Given the description of an element on the screen output the (x, y) to click on. 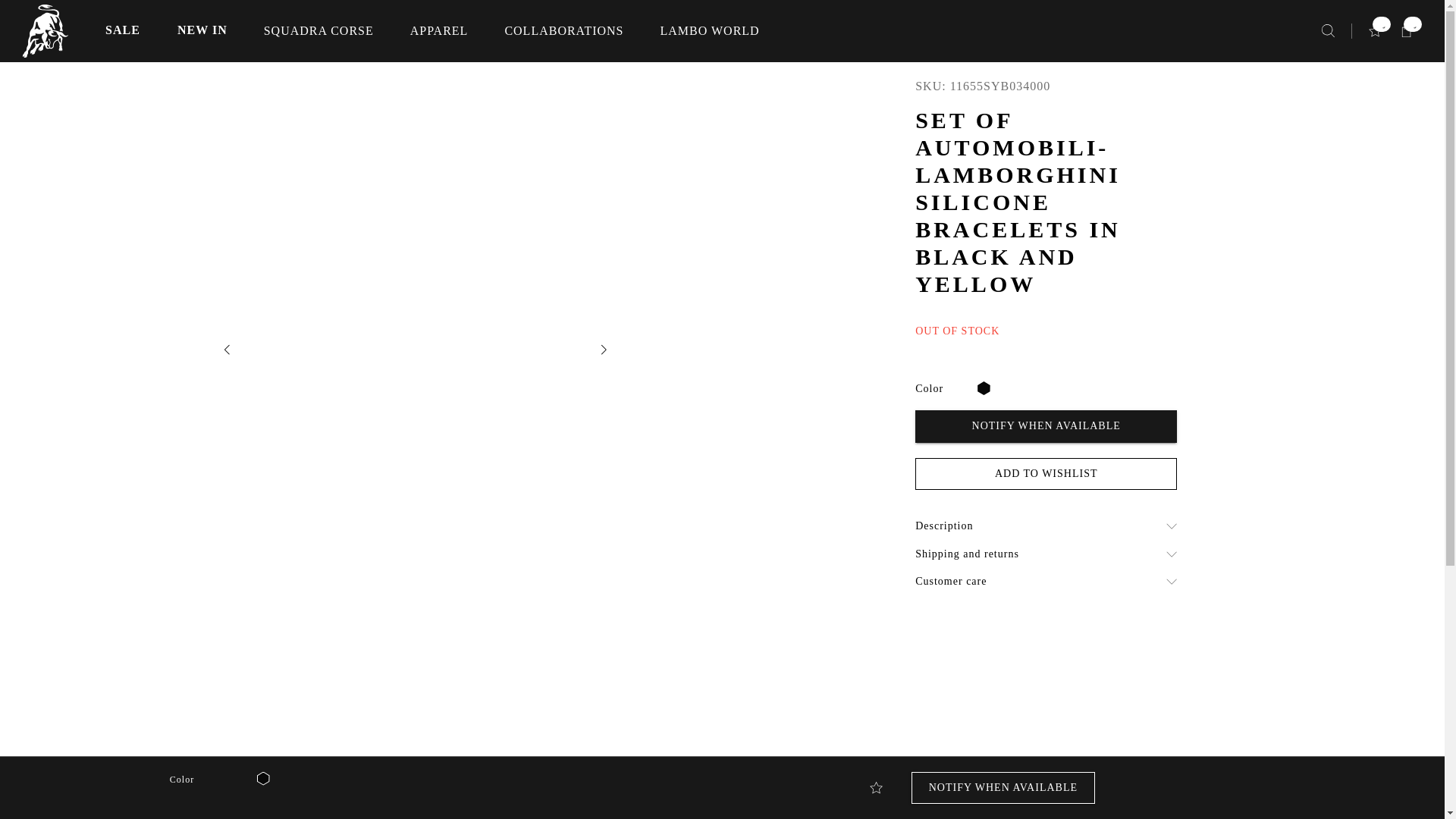
NOTIFY WHEN AVAILABLE (1002, 788)
COLLABORATIONS (562, 30)
APPAREL (439, 30)
LAMBO WORLD (709, 30)
ADD TO WISHLIST (1045, 473)
SALE (123, 30)
SQUADRA CORSE (318, 30)
NEW IN (201, 30)
NOTIFY WHEN AVAILABLE (1045, 426)
Add to Wishlist (875, 787)
